Given the description of an element on the screen output the (x, y) to click on. 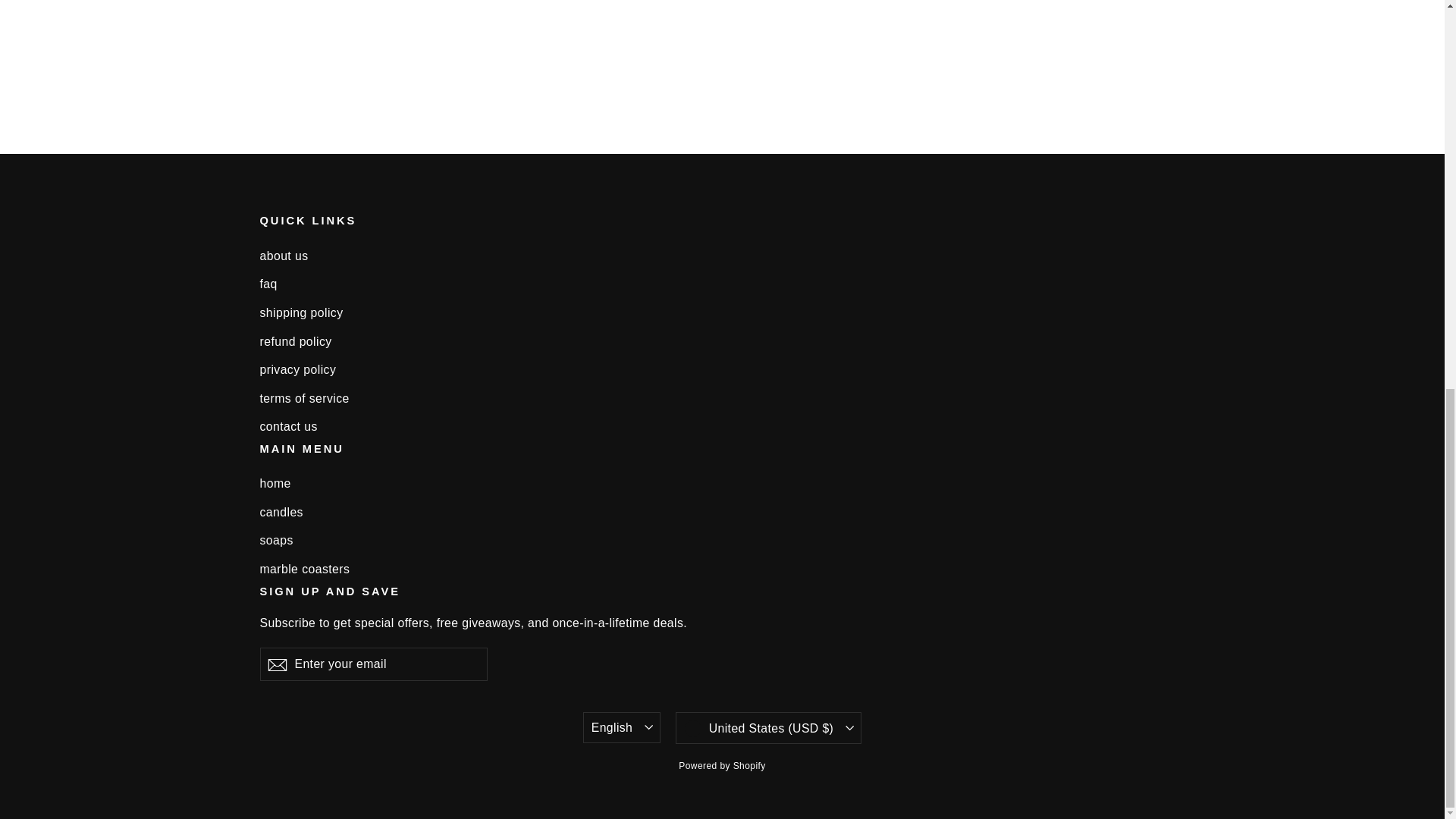
terms of service (722, 398)
home (722, 483)
icon-email (276, 665)
soaps (722, 539)
faq (276, 663)
about us (722, 283)
marble coasters (722, 255)
candles (722, 568)
shipping policy (722, 511)
